Given the description of an element on the screen output the (x, y) to click on. 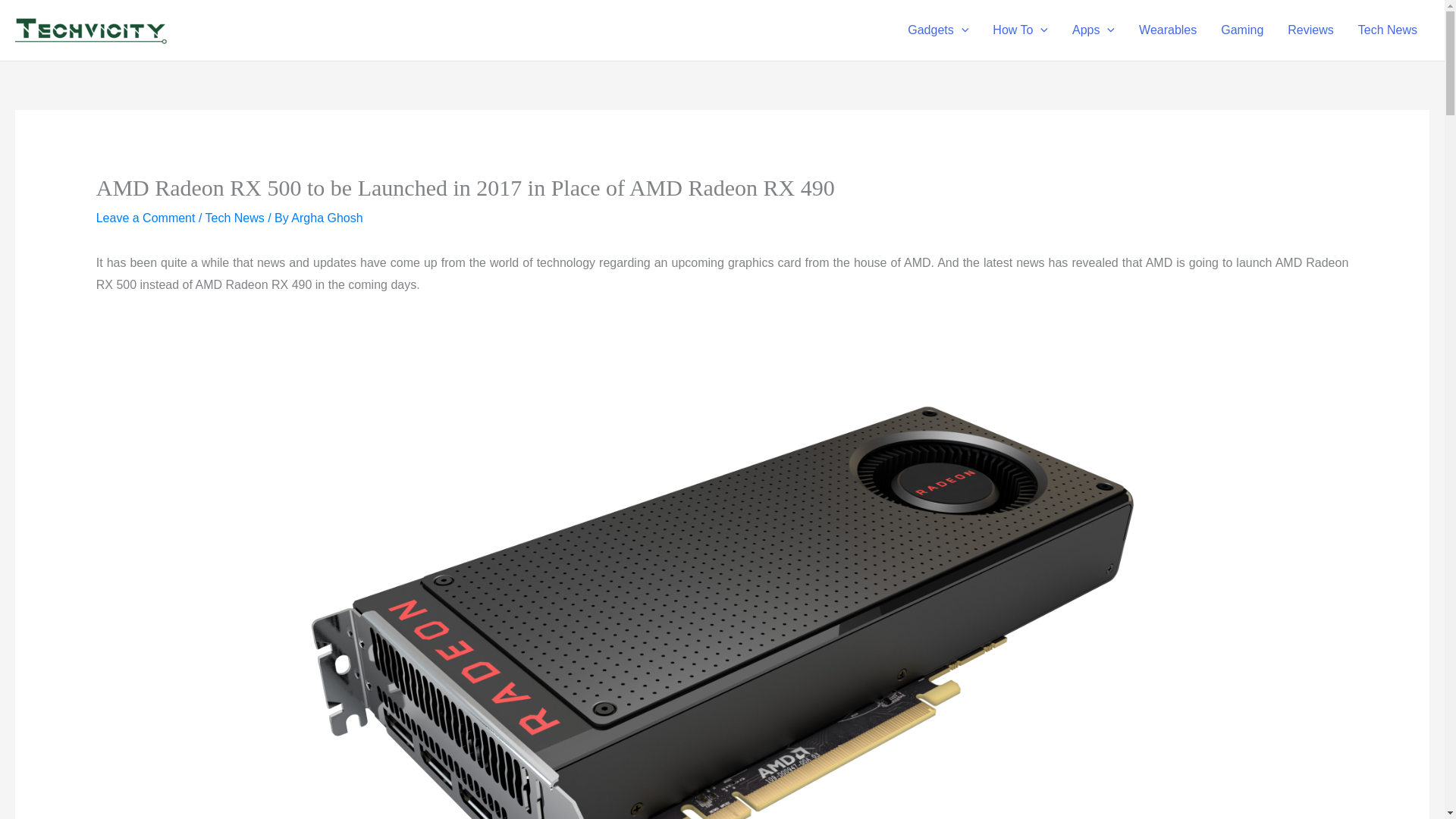
Tech News (1387, 30)
View all posts by Argha Ghosh (326, 217)
Gadgets (937, 30)
Wearables (1167, 30)
Reviews (1310, 30)
Apps (1092, 30)
How To (1019, 30)
Gaming (1241, 30)
